Given the description of an element on the screen output the (x, y) to click on. 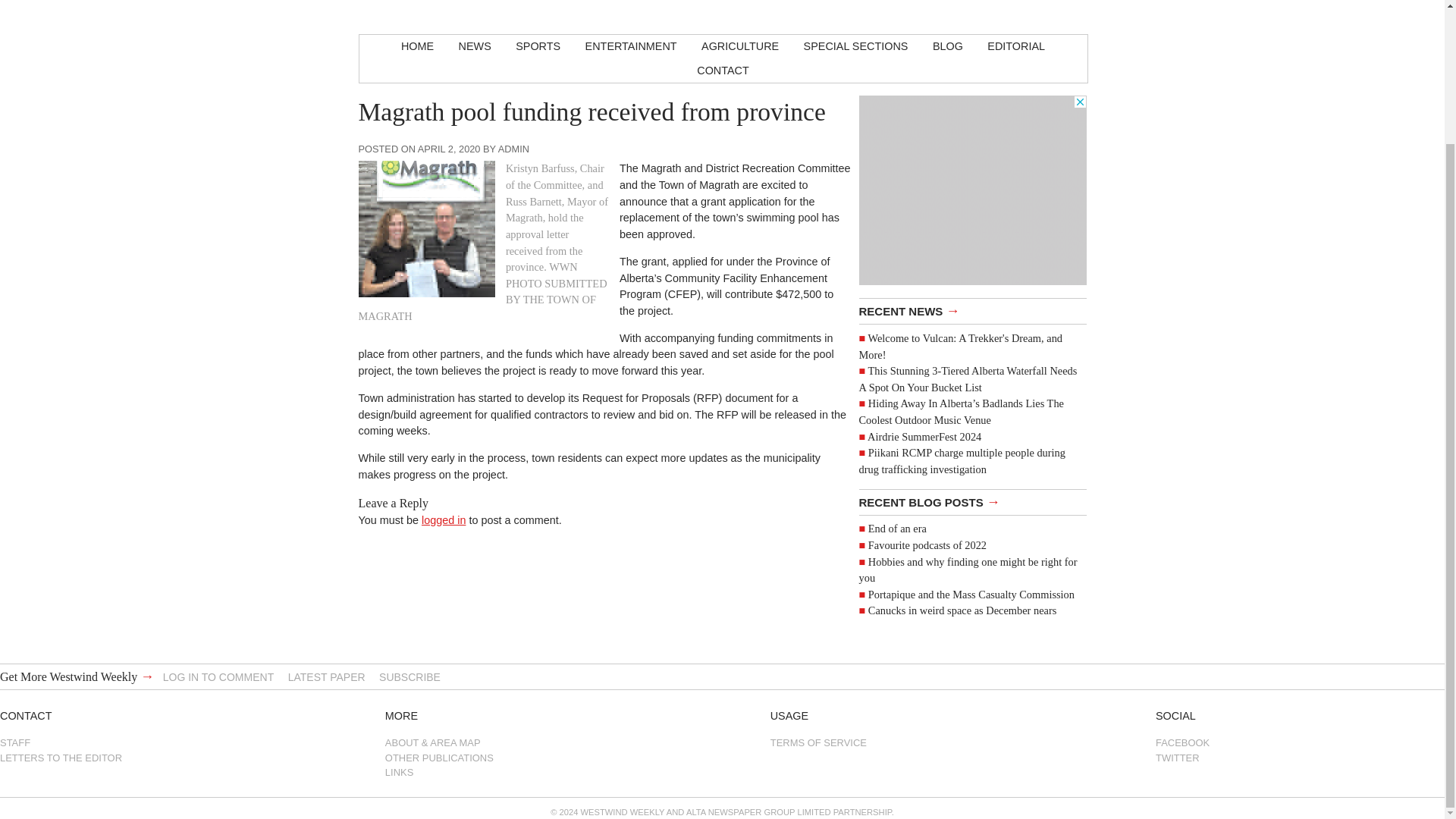
HOME (417, 46)
Hobbies and why finding one might be right for you (968, 569)
SPORTS (537, 46)
NEWS (475, 46)
AGRICULTURE (739, 46)
CONTACT (721, 70)
ENTERTAINMENT (631, 46)
Welcome to Vulcan: A Trekker's Dream, and More! (960, 346)
3rd party ad content (972, 190)
